Given the description of an element on the screen output the (x, y) to click on. 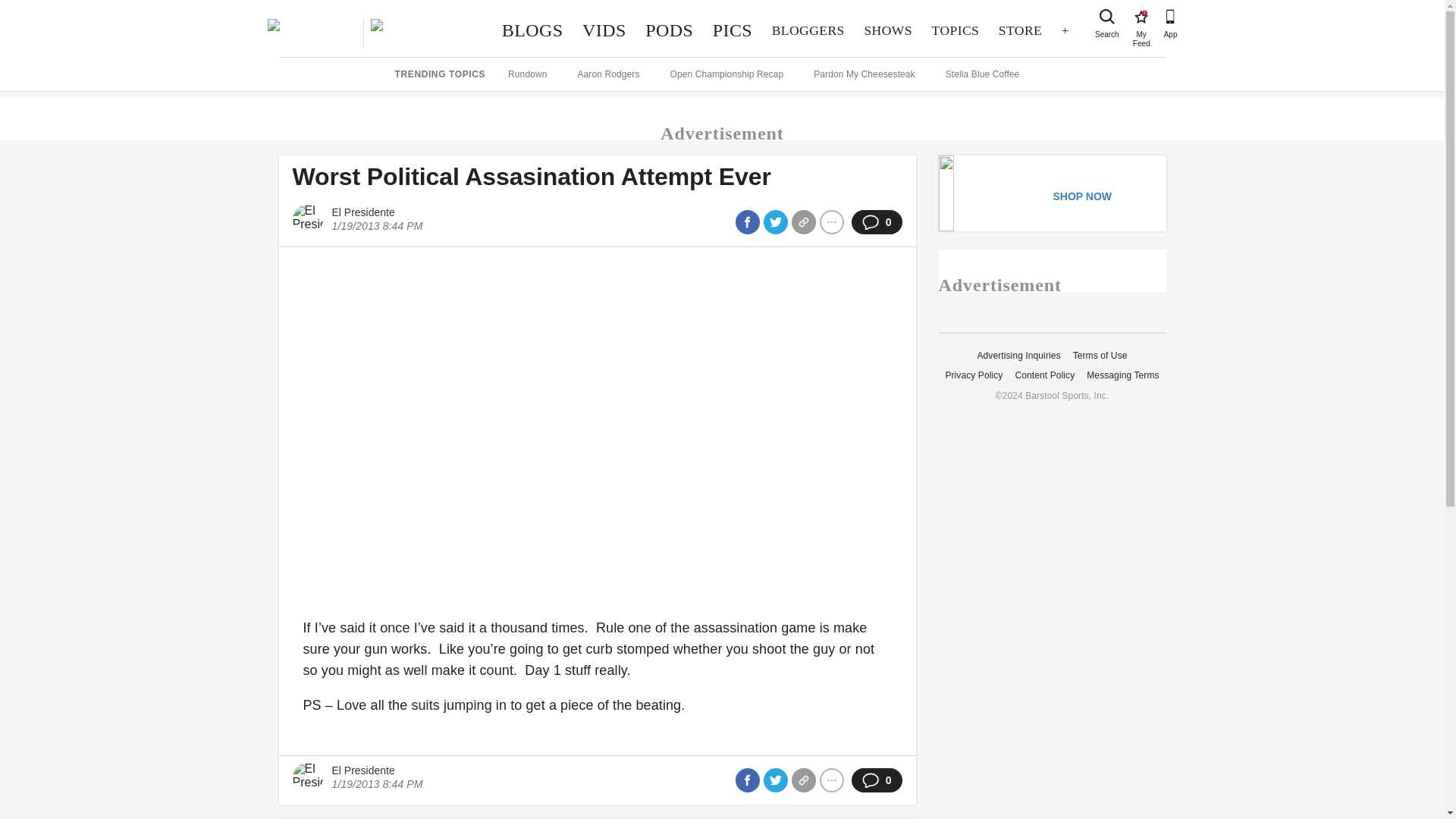
STORE (1019, 30)
PODS (668, 30)
TOPICS (954, 30)
VIDS (603, 30)
SHOWS (887, 30)
BLOGGERS (807, 30)
BLOGS (532, 30)
PICS (1141, 16)
Search (732, 30)
